Given the description of an element on the screen output the (x, y) to click on. 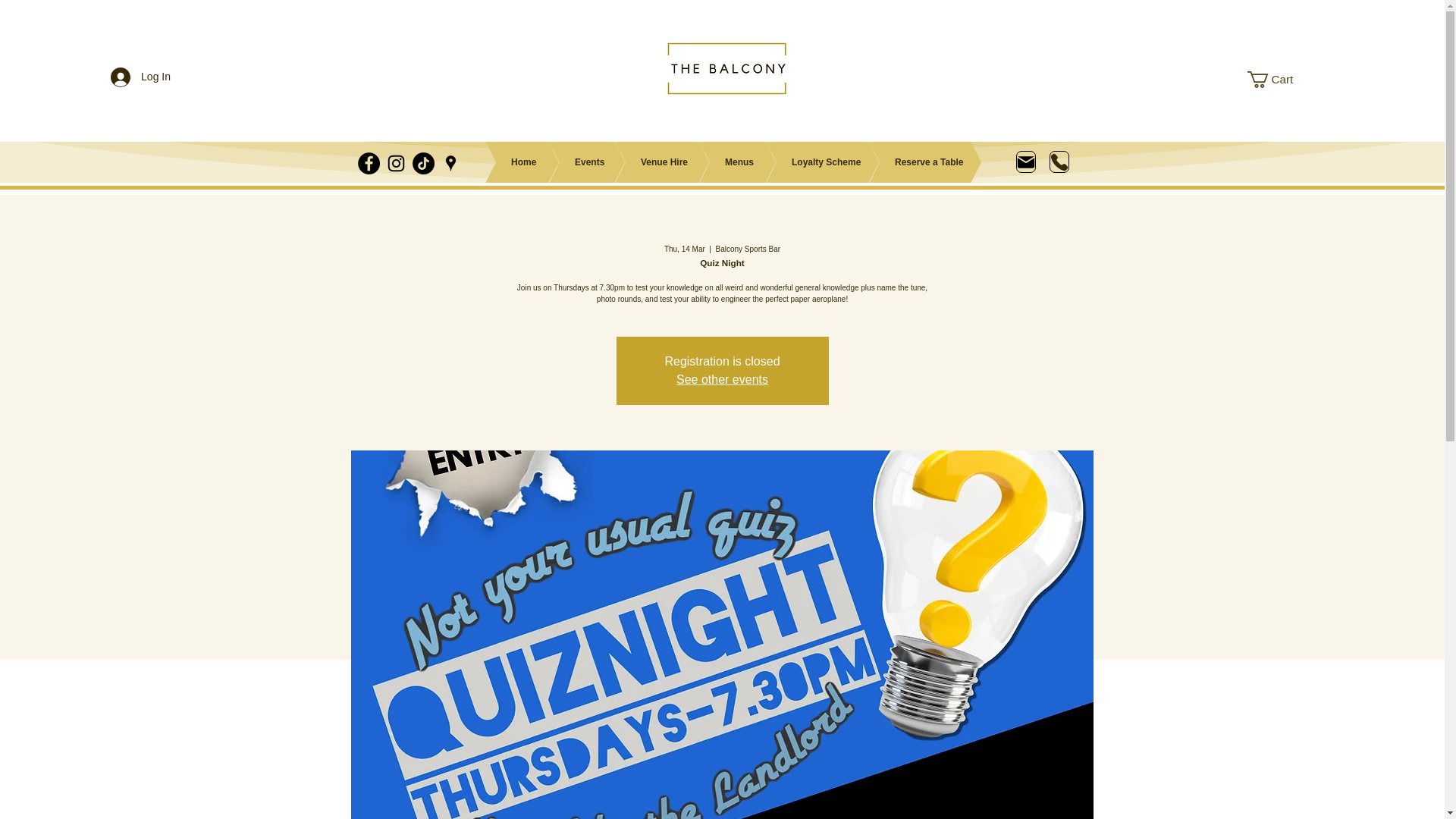
Venue Hire (640, 161)
Events (565, 161)
Menus (716, 161)
Log In (140, 76)
Home (500, 161)
Reserve a Table (904, 161)
Cart (1278, 79)
See other events (722, 379)
Cart (1278, 79)
Loyalty Scheme (801, 161)
